Given the description of an element on the screen output the (x, y) to click on. 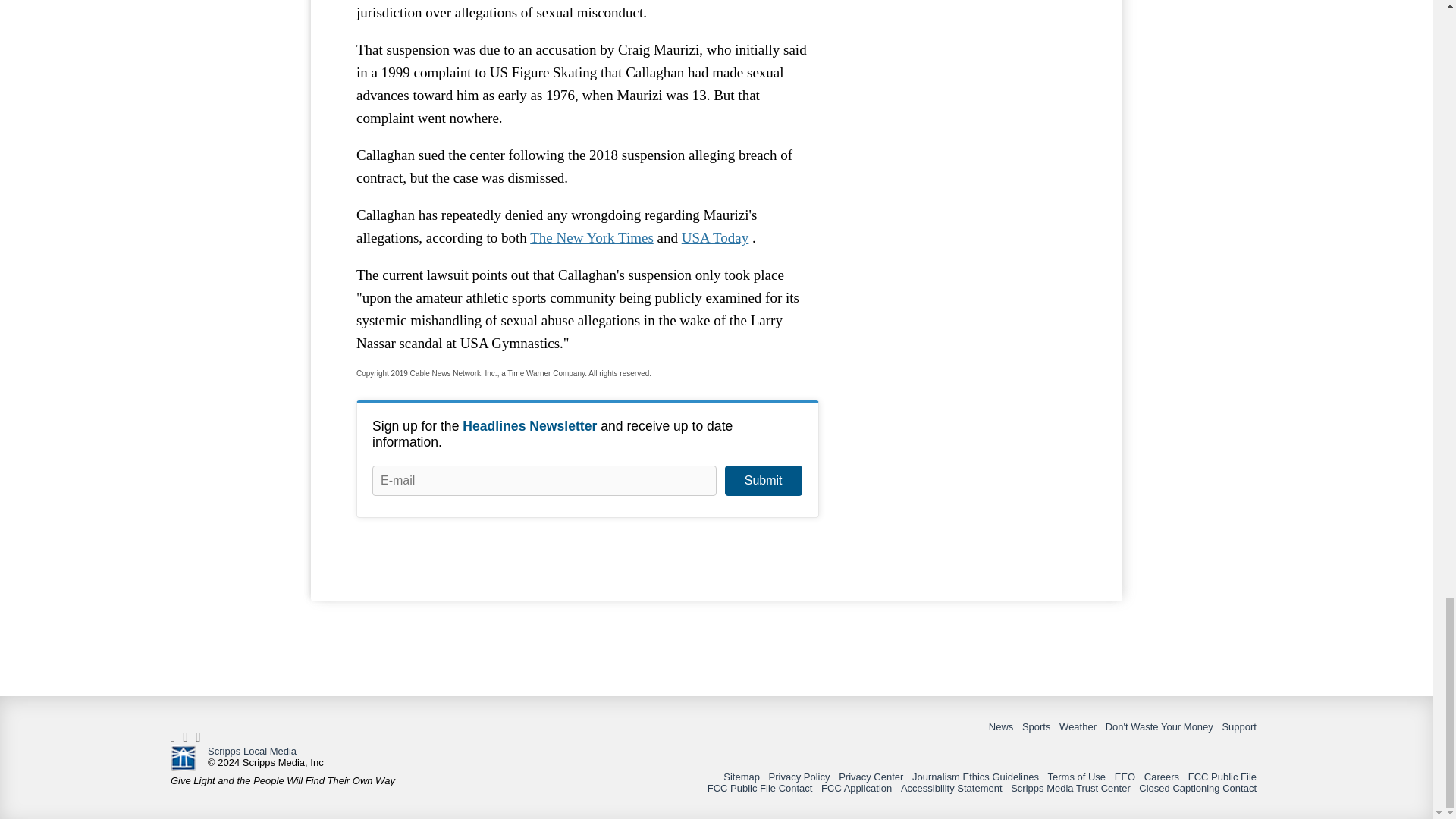
Submit (763, 481)
